Given the description of an element on the screen output the (x, y) to click on. 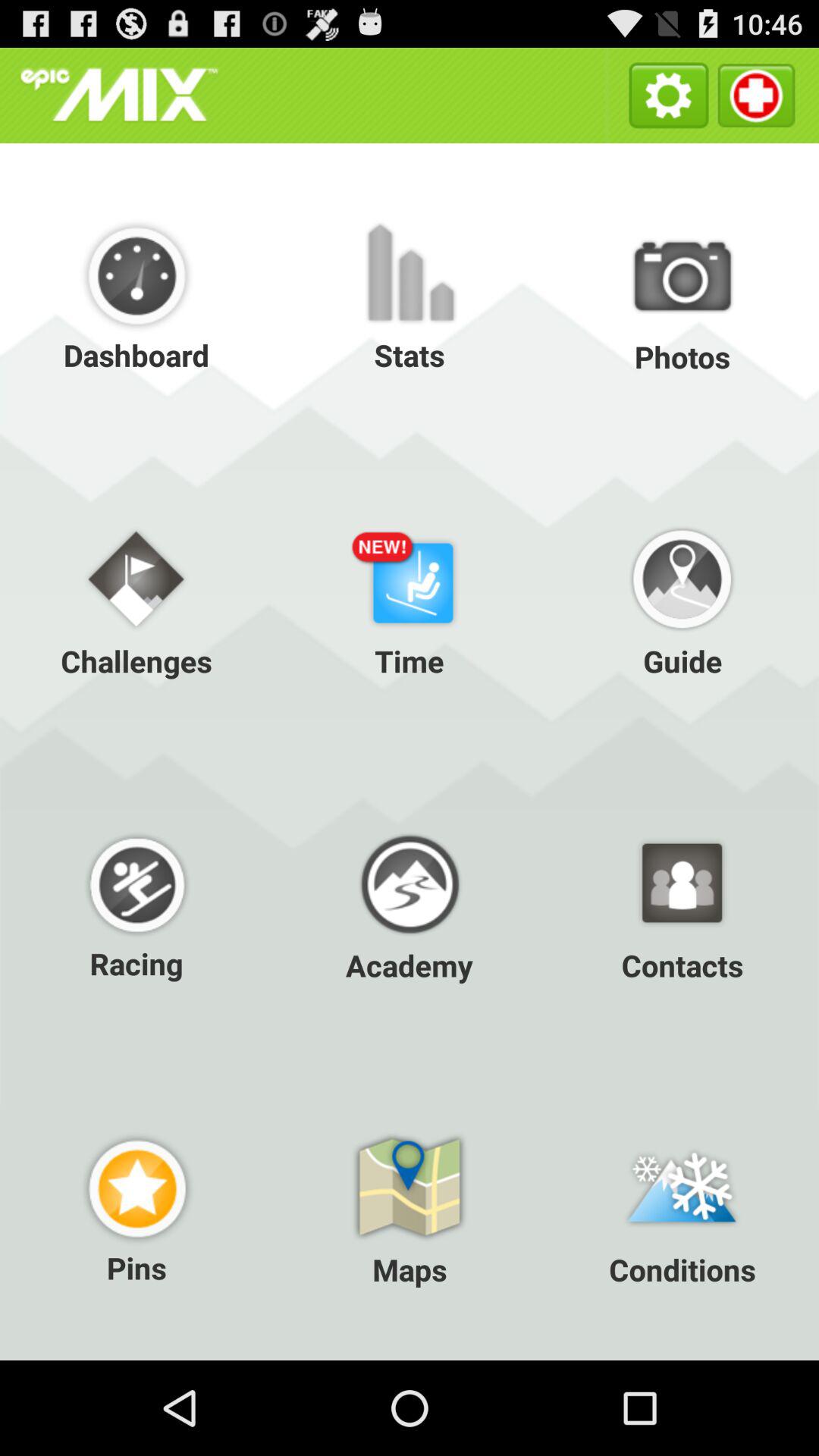
flip until dashboard (136, 295)
